Given the description of an element on the screen output the (x, y) to click on. 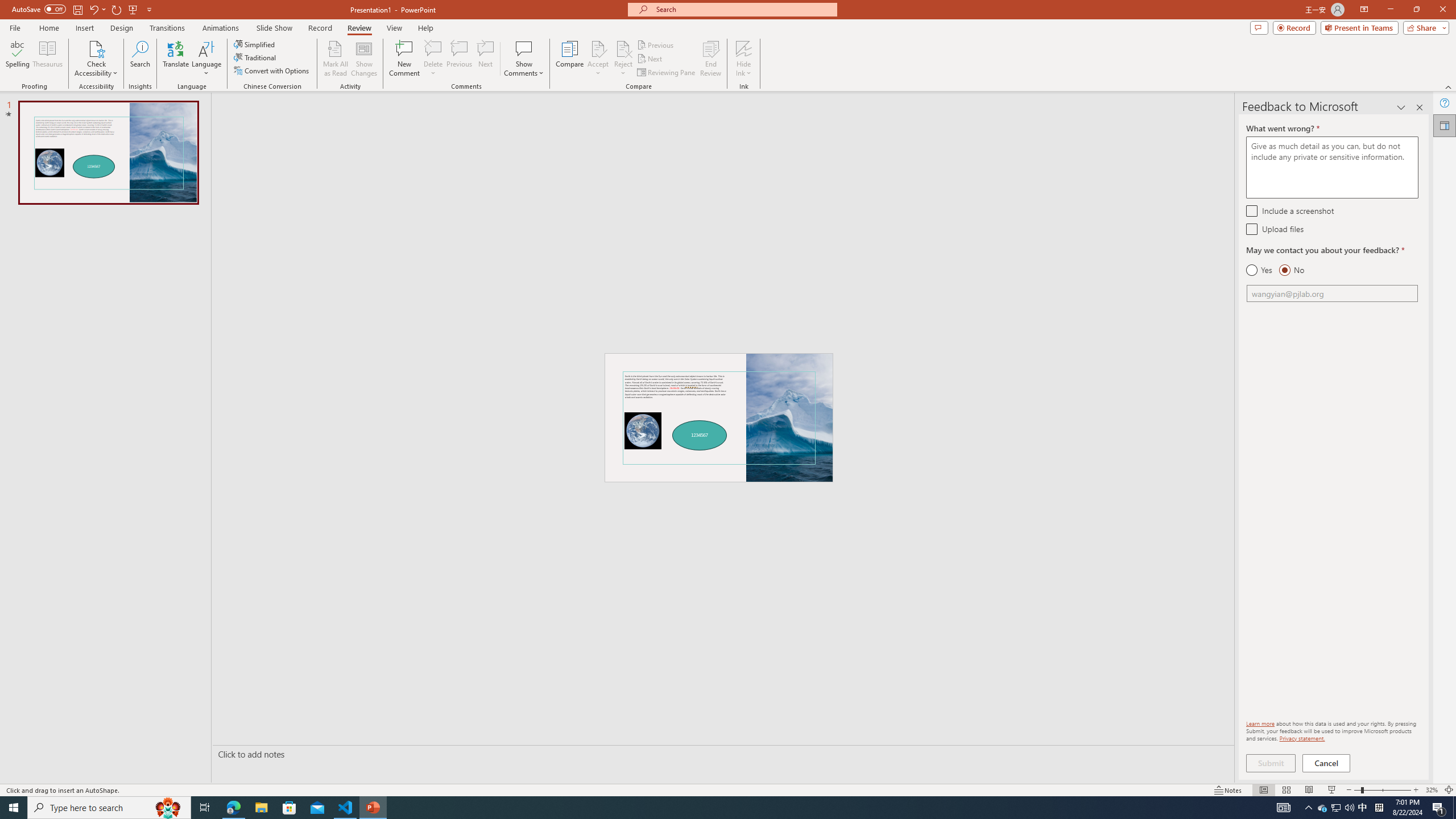
Yes (1259, 269)
What went wrong? * (1332, 167)
Reject Change (622, 48)
Show Comments (524, 48)
